Given the description of an element on the screen output the (x, y) to click on. 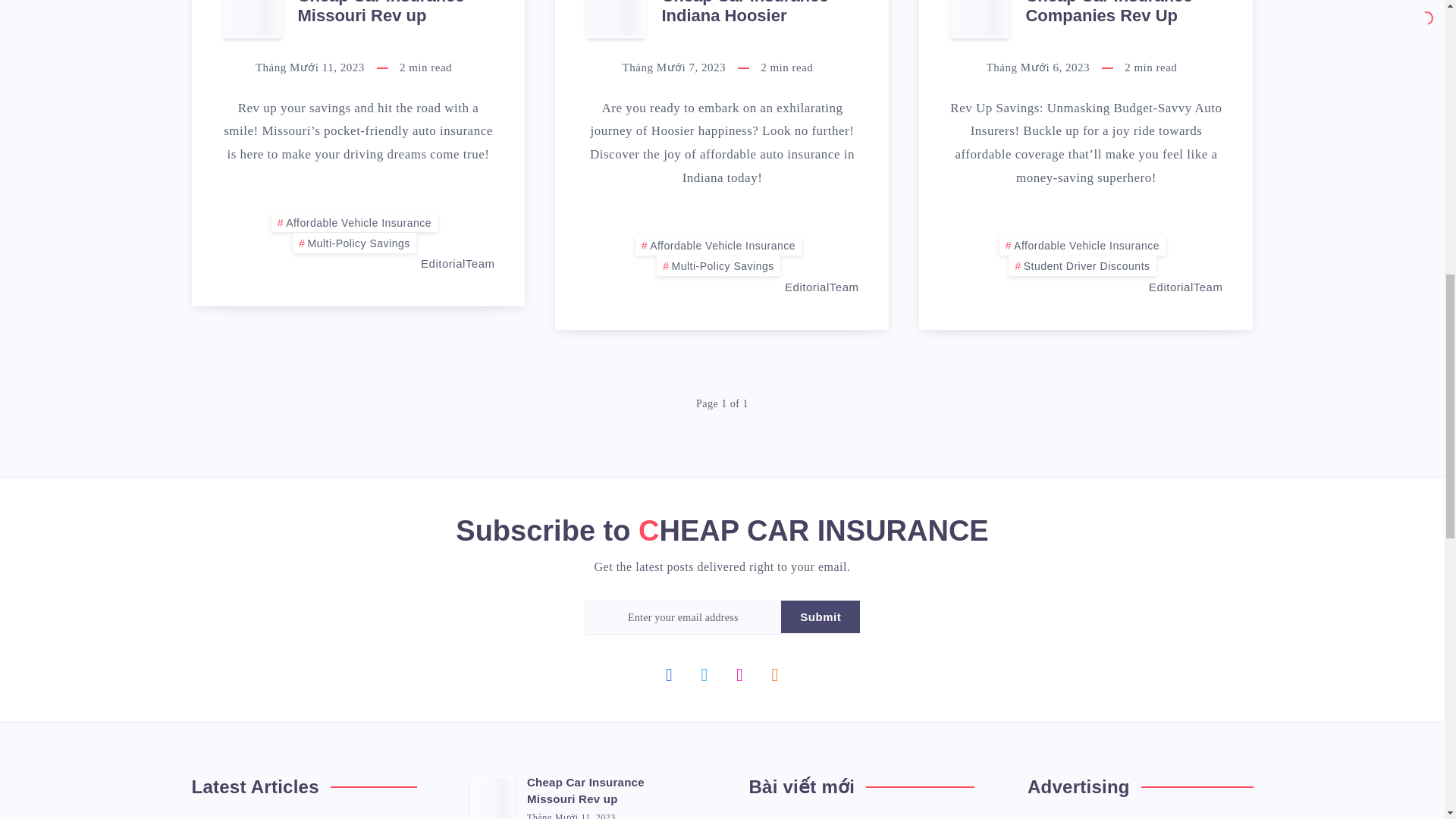
Author: EditorialTeam (805, 287)
Author: EditorialTeam (1169, 287)
Author: EditorialTeam (441, 264)
Cheap Car Insurance Missouri Rev up (380, 14)
